Given the description of an element on the screen output the (x, y) to click on. 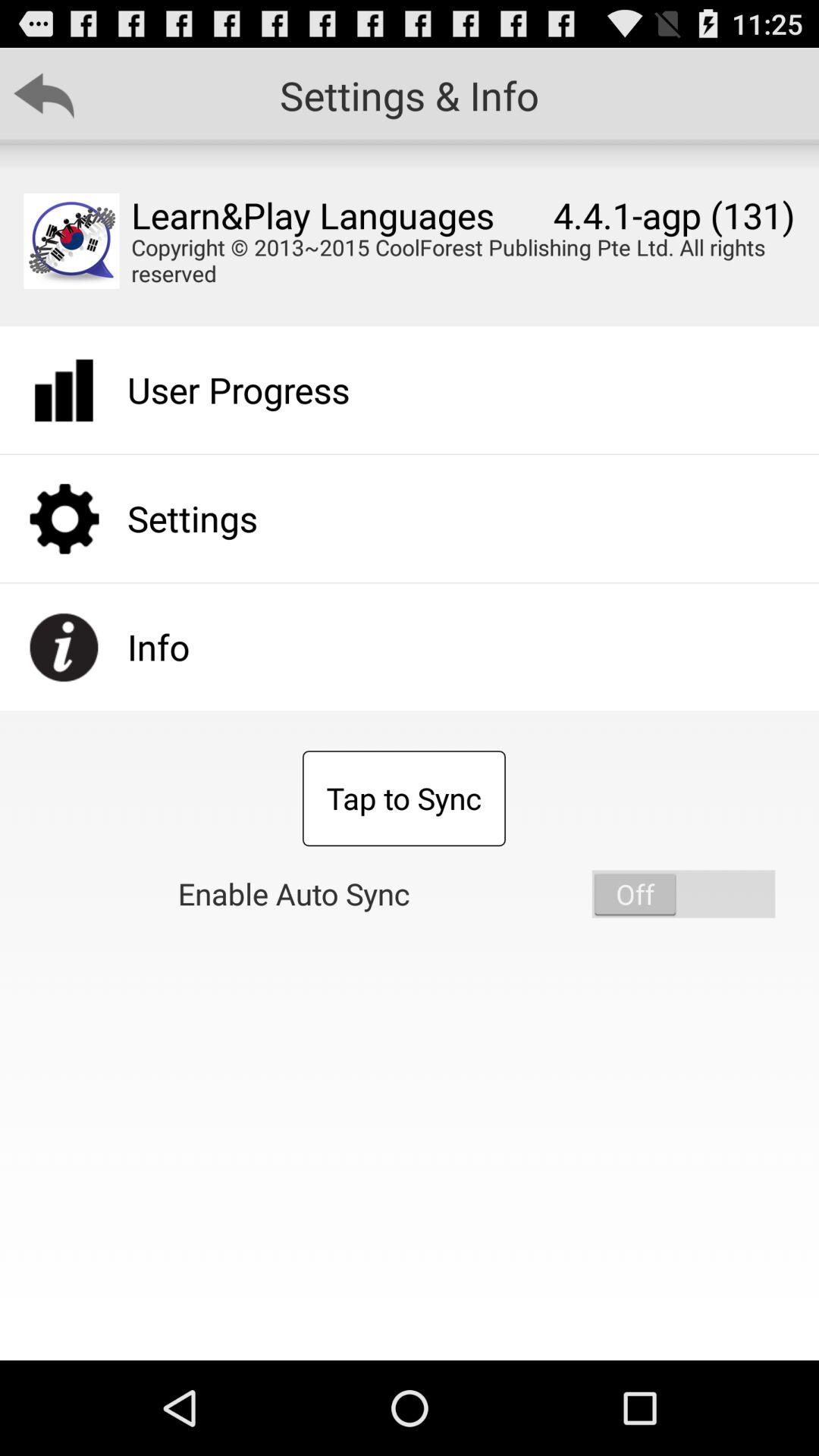
choose item to the left of learn&play languages icon (71, 240)
